Given the description of an element on the screen output the (x, y) to click on. 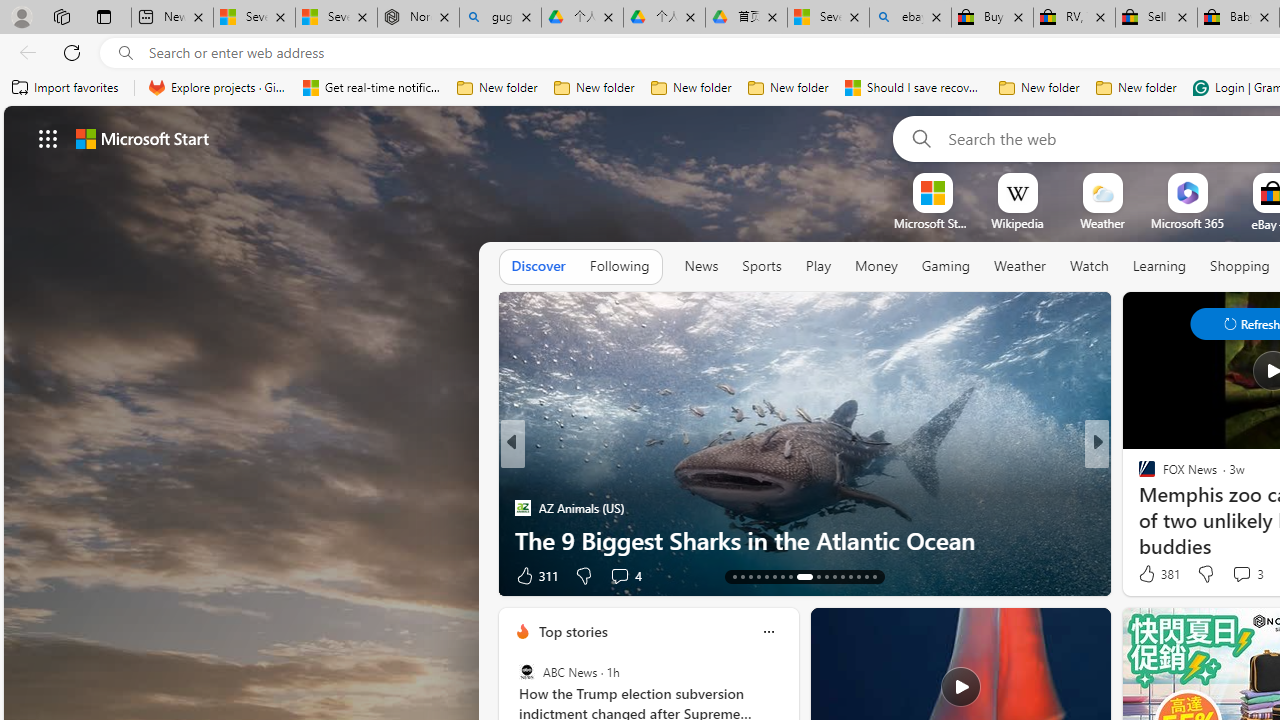
Sports (761, 265)
Ad Choice (479, 575)
AutomationID: tab-17 (765, 576)
Microsoft Start Sports (932, 223)
Play (818, 267)
69 Like (1149, 574)
43 Like (1149, 574)
13 Like (532, 574)
News (701, 265)
192 Like (1151, 574)
Gaming (945, 265)
Weather (1020, 265)
Action News Jax (522, 507)
CNN (1138, 475)
